Given the description of an element on the screen output the (x, y) to click on. 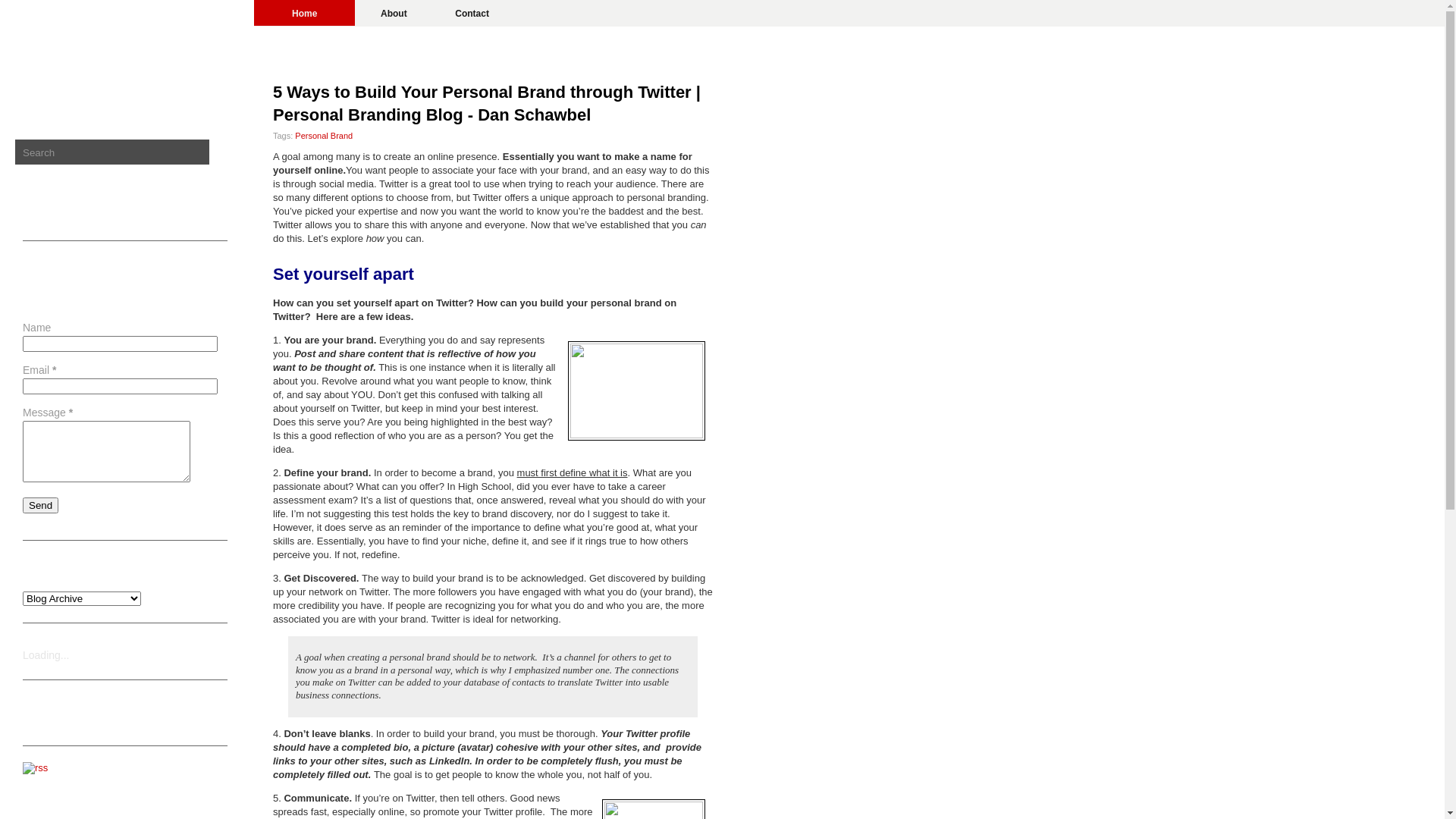
Personal Brand Element type: text (323, 135)
Loading... Element type: text (45, 655)
About Element type: text (393, 12)
Contact Element type: text (471, 12)
Home Element type: text (304, 12)
40x50 Element type: text (78, 43)
